Given the description of an element on the screen output the (x, y) to click on. 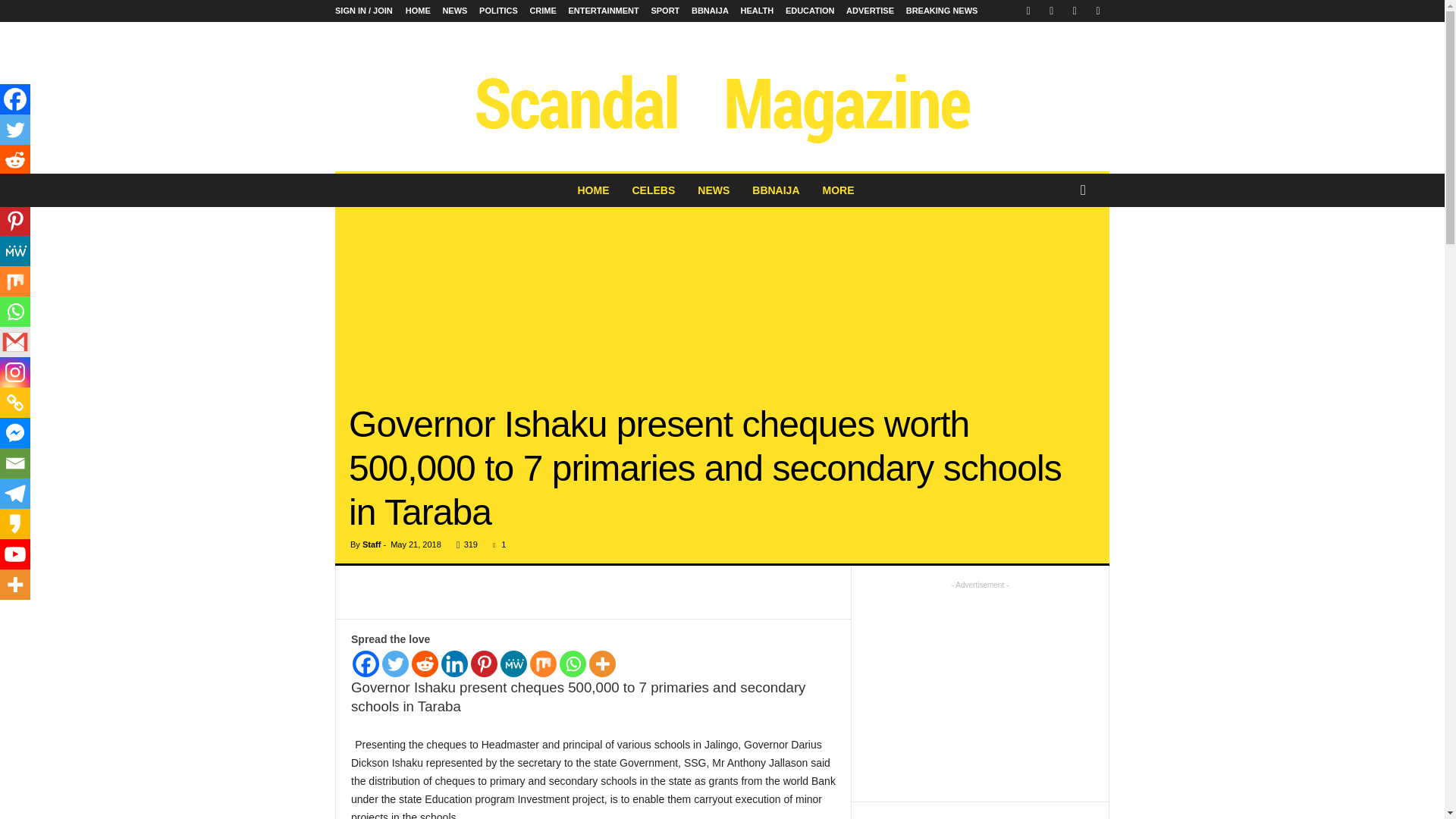
Twitter (395, 663)
POLITICS (498, 10)
Linkedin (454, 663)
NEWS (454, 10)
HOME (418, 10)
SPORT (664, 10)
Reddit (425, 663)
ENTERTAINMENT (603, 10)
CRIME (542, 10)
Facebook (365, 663)
